Given the description of an element on the screen output the (x, y) to click on. 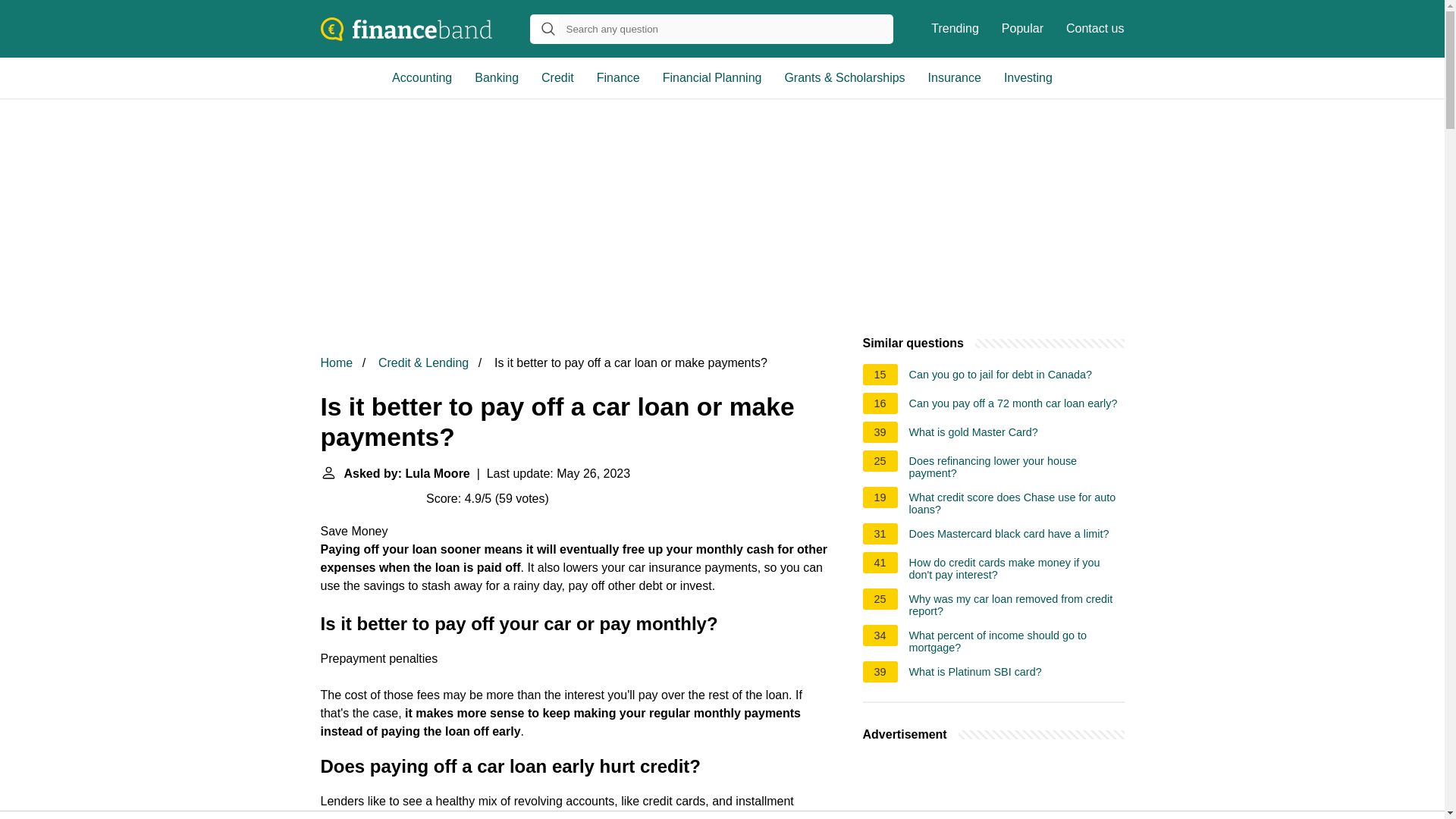
Can you go to jail for debt in Canada? (1000, 376)
Does Mastercard black card have a limit? (1008, 535)
How do credit cards make money if you don't pay interest? (1016, 568)
Credit (557, 77)
Accounting (421, 77)
Contact us (1094, 28)
What credit score does Chase use for auto loans? (1016, 503)
Trending (954, 28)
Home (336, 362)
Finance (617, 77)
Does refinancing lower your house payment? (1016, 467)
What is gold Master Card? (973, 434)
Investing (1028, 77)
Why was my car loan removed from credit report? (1016, 604)
What percent of income should go to mortgage? (1016, 641)
